Given the description of an element on the screen output the (x, y) to click on. 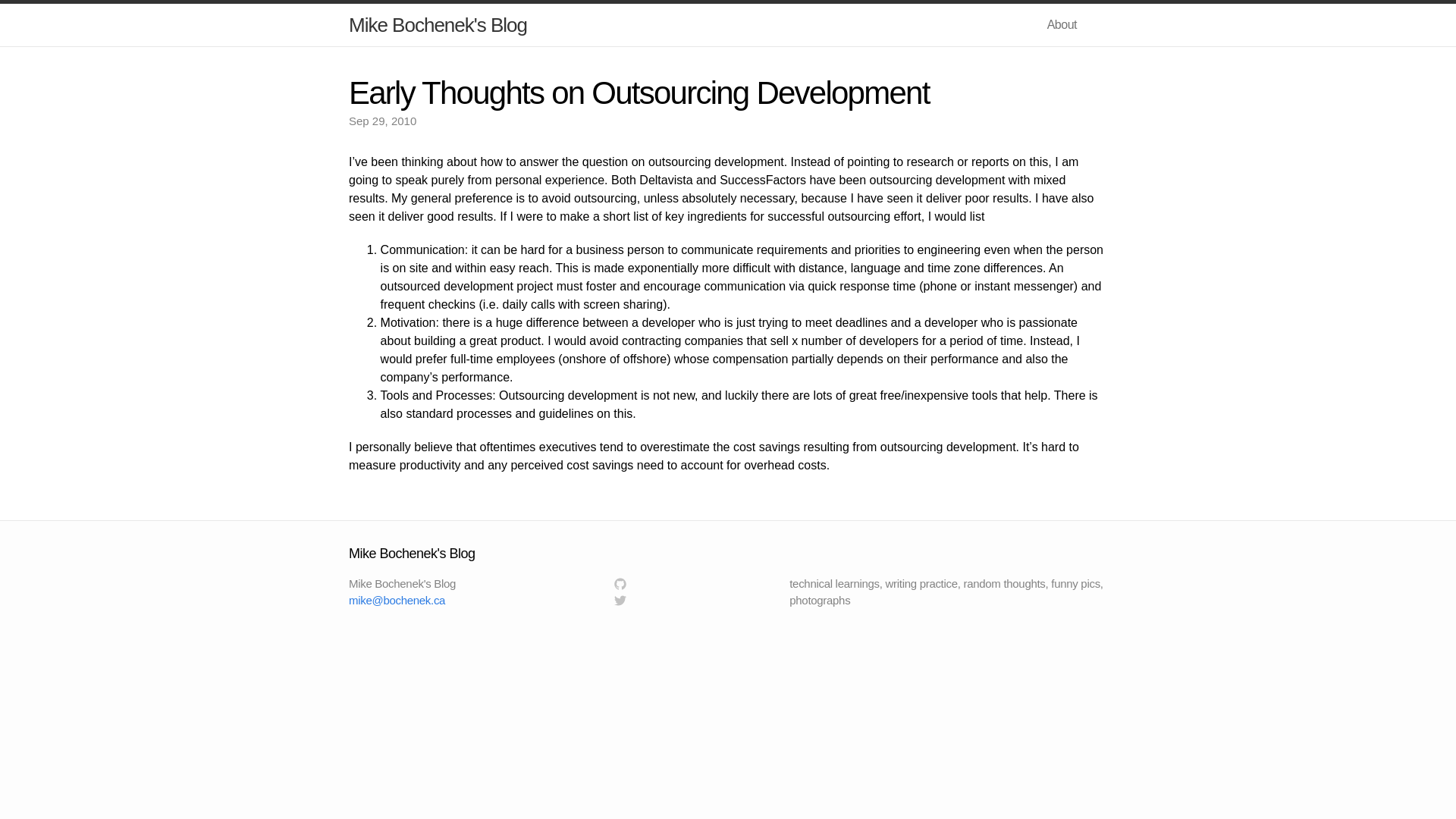
mike@bochenek.ca Element type: text (396, 599)
Mike Bochenek's Blog Element type: text (437, 24)
About Element type: text (1061, 24)
